Given the description of an element on the screen output the (x, y) to click on. 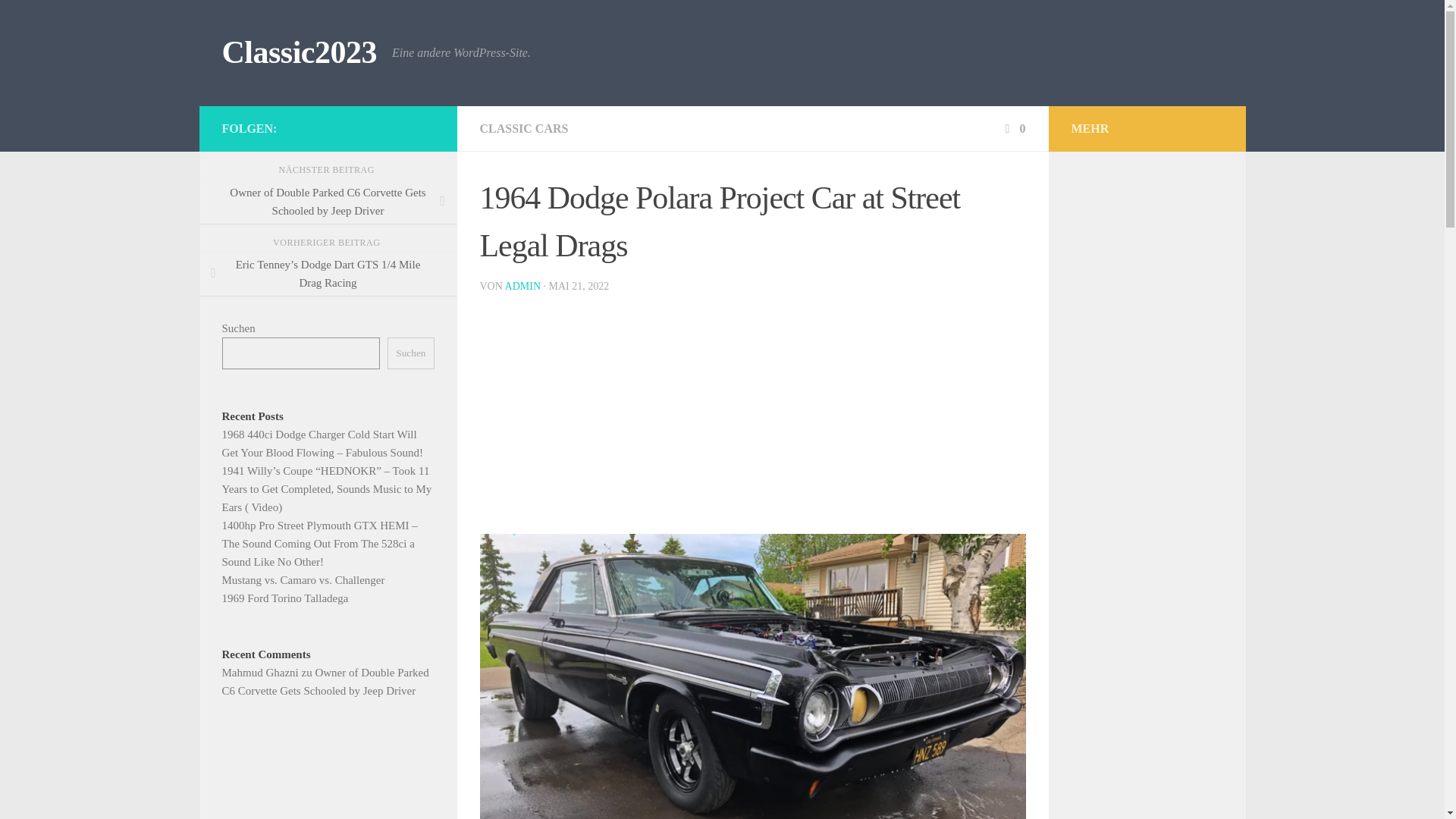
Suchen (410, 353)
Mahmud Ghazni (259, 672)
Mustang vs. Camaro vs. Challenger (302, 580)
Classic2023 (299, 53)
Zum Inhalt springen (73, 20)
ADMIN (522, 285)
CLASSIC CARS (523, 128)
0 (1013, 128)
1969 Ford Torino Talladega (284, 598)
